Given the description of an element on the screen output the (x, y) to click on. 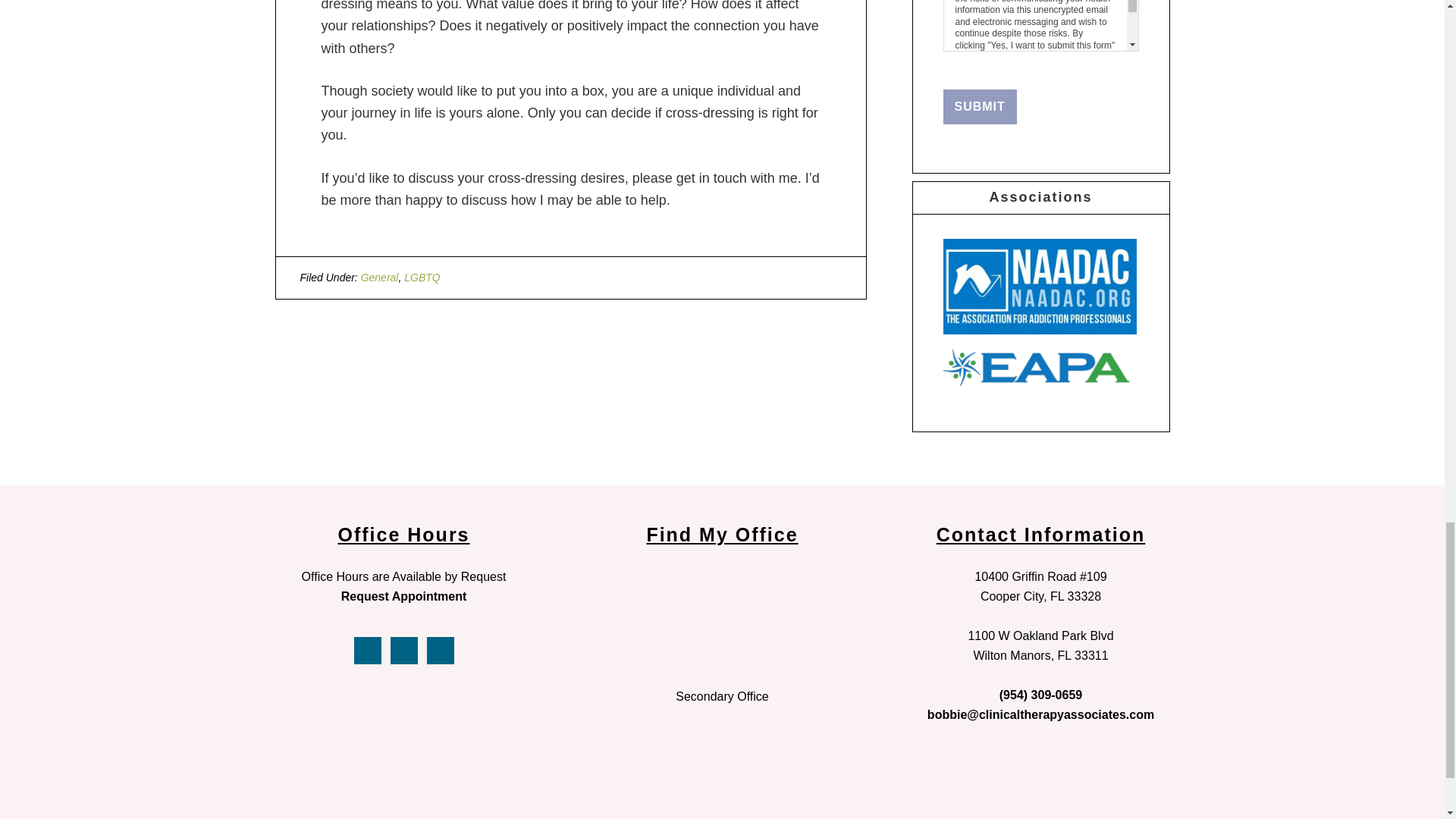
Request Appointment (403, 595)
SUBMIT (979, 106)
LGBTQ (421, 277)
General (379, 277)
